Given the description of an element on the screen output the (x, y) to click on. 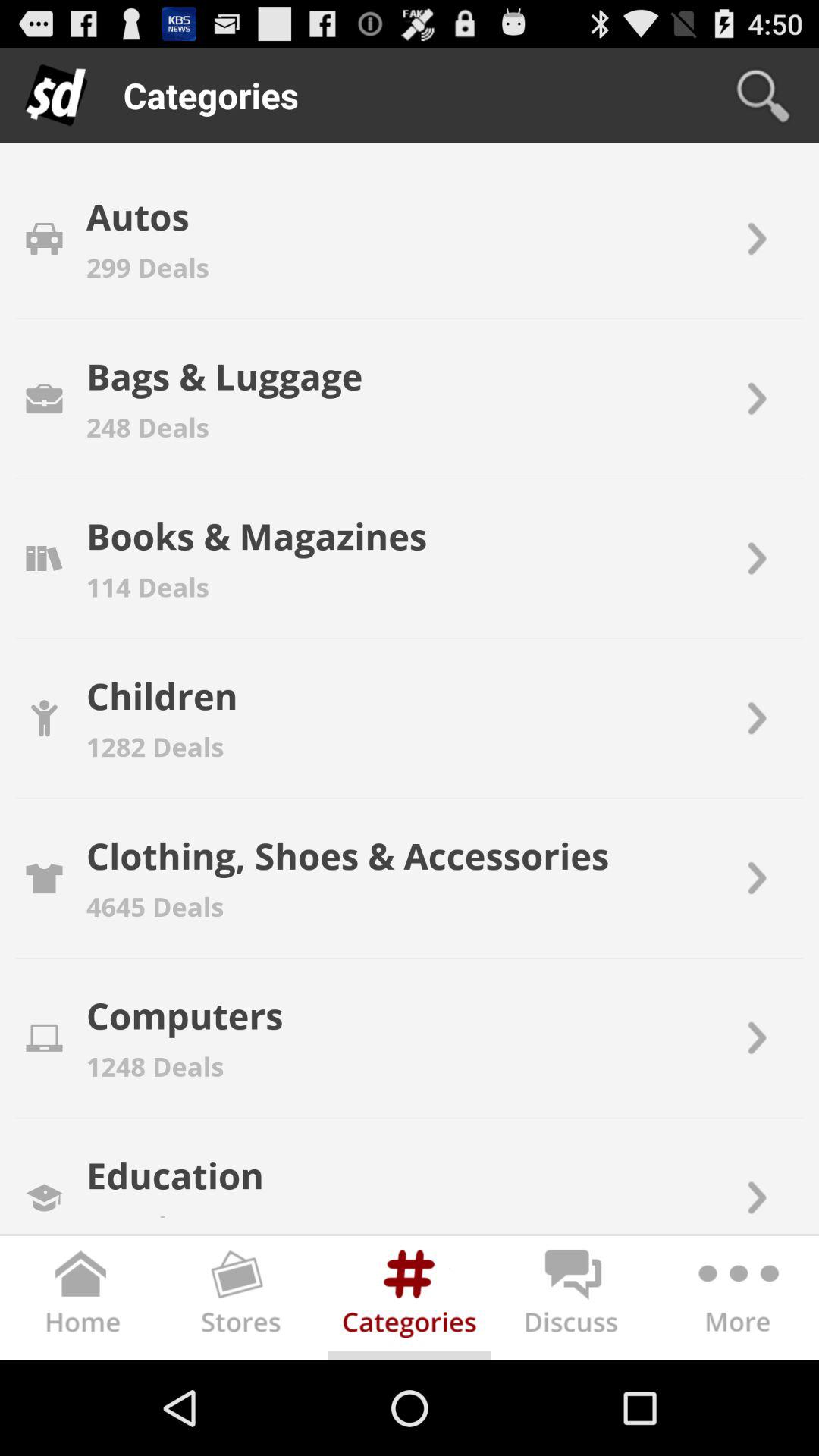
chats (573, 1301)
